Given the description of an element on the screen output the (x, y) to click on. 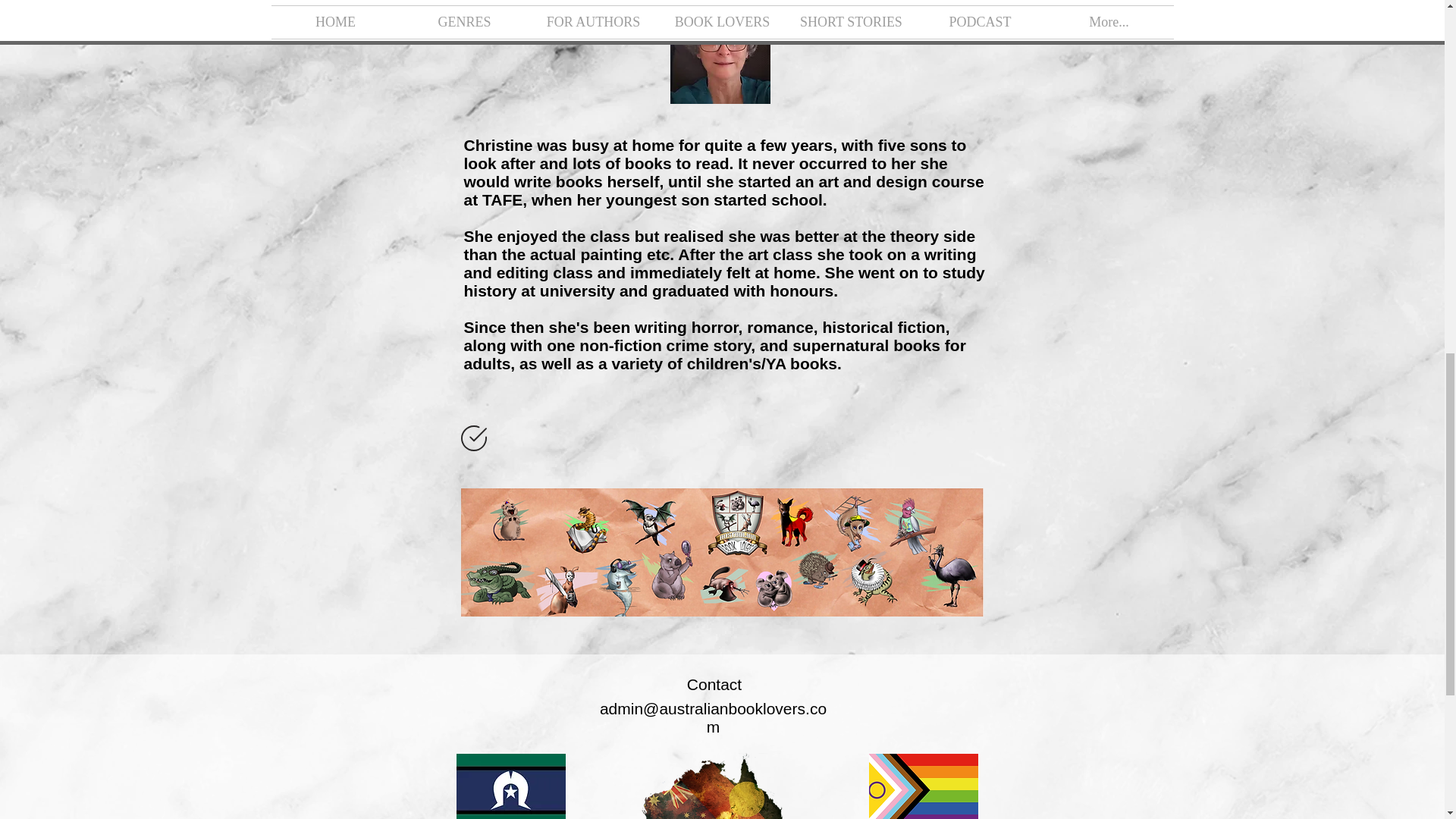
Gardner.jpg (719, 54)
